Given the description of an element on the screen output the (x, y) to click on. 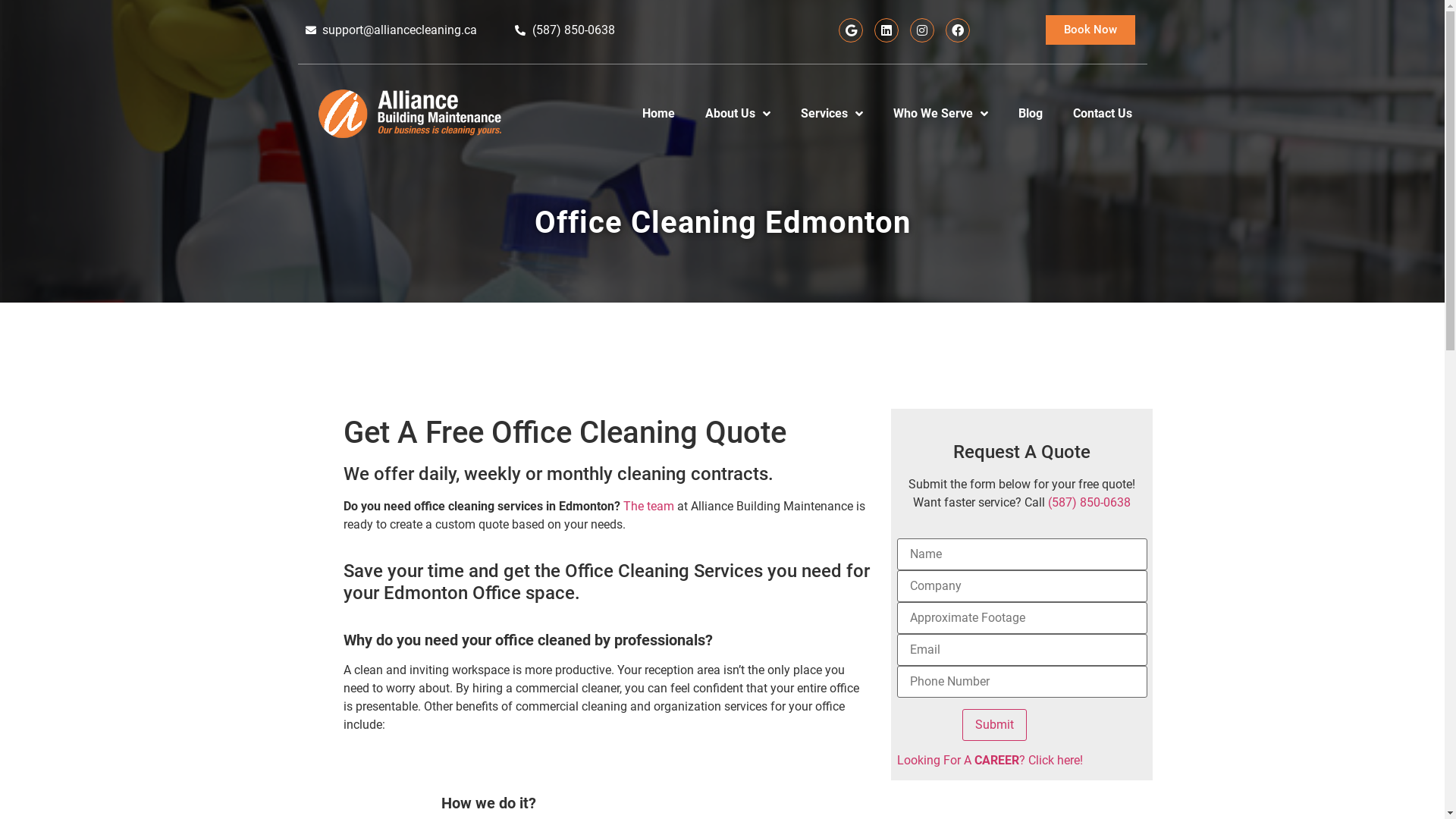
Blog Element type: text (1029, 114)
Looking For A CAREER? Click here! Element type: text (989, 760)
Home Element type: text (657, 114)
Blog Element type: text (1029, 113)
(587) 850-0638 Element type: text (1089, 502)
About Us Element type: text (737, 114)
Book Now Element type: text (1090, 29)
Home Element type: text (657, 113)
support@alliancecleaning.ca Element type: text (390, 30)
The team Element type: text (648, 505)
Submit Element type: text (994, 724)
Services Element type: text (831, 113)
Services Element type: text (831, 114)
Contact Us Element type: text (1101, 114)
Who We Serve Element type: text (940, 114)
(587) 850-0638 Element type: text (564, 30)
Contact Us Element type: text (1101, 113)
Who We Serve Element type: text (940, 113)
About Us Element type: text (737, 113)
